Given the description of an element on the screen output the (x, y) to click on. 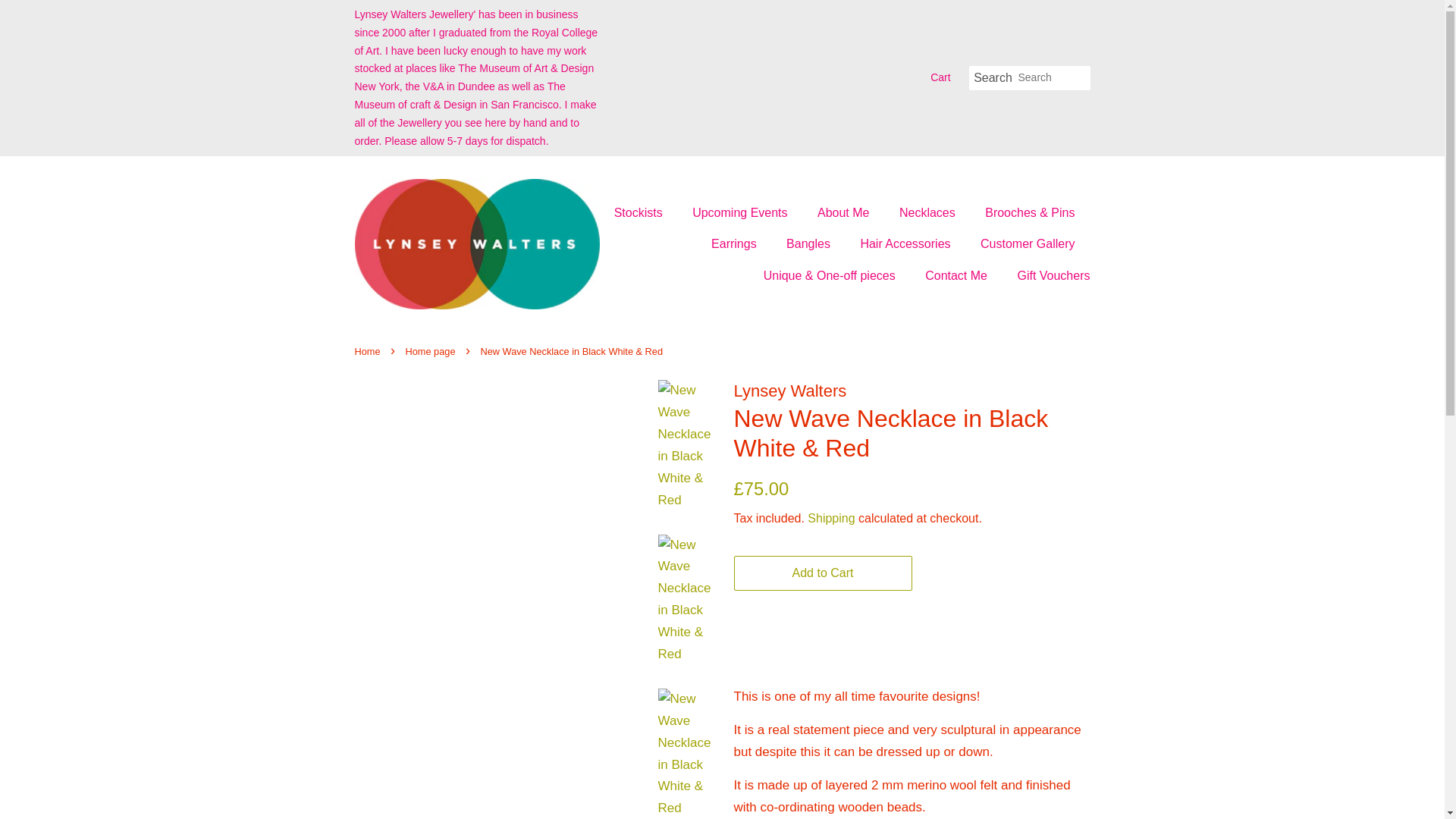
Necklaces (929, 212)
Home (369, 351)
Bangles (809, 243)
Contact Me (958, 275)
Shipping (831, 517)
Upcoming Events (741, 212)
Customer Gallery (1029, 243)
Gift Vouchers (1047, 275)
Search (993, 78)
Add to Cart (822, 573)
Cart (940, 77)
Stockists (646, 212)
Hair Accessories (906, 243)
Home page (433, 351)
Earrings (735, 243)
